Given the description of an element on the screen output the (x, y) to click on. 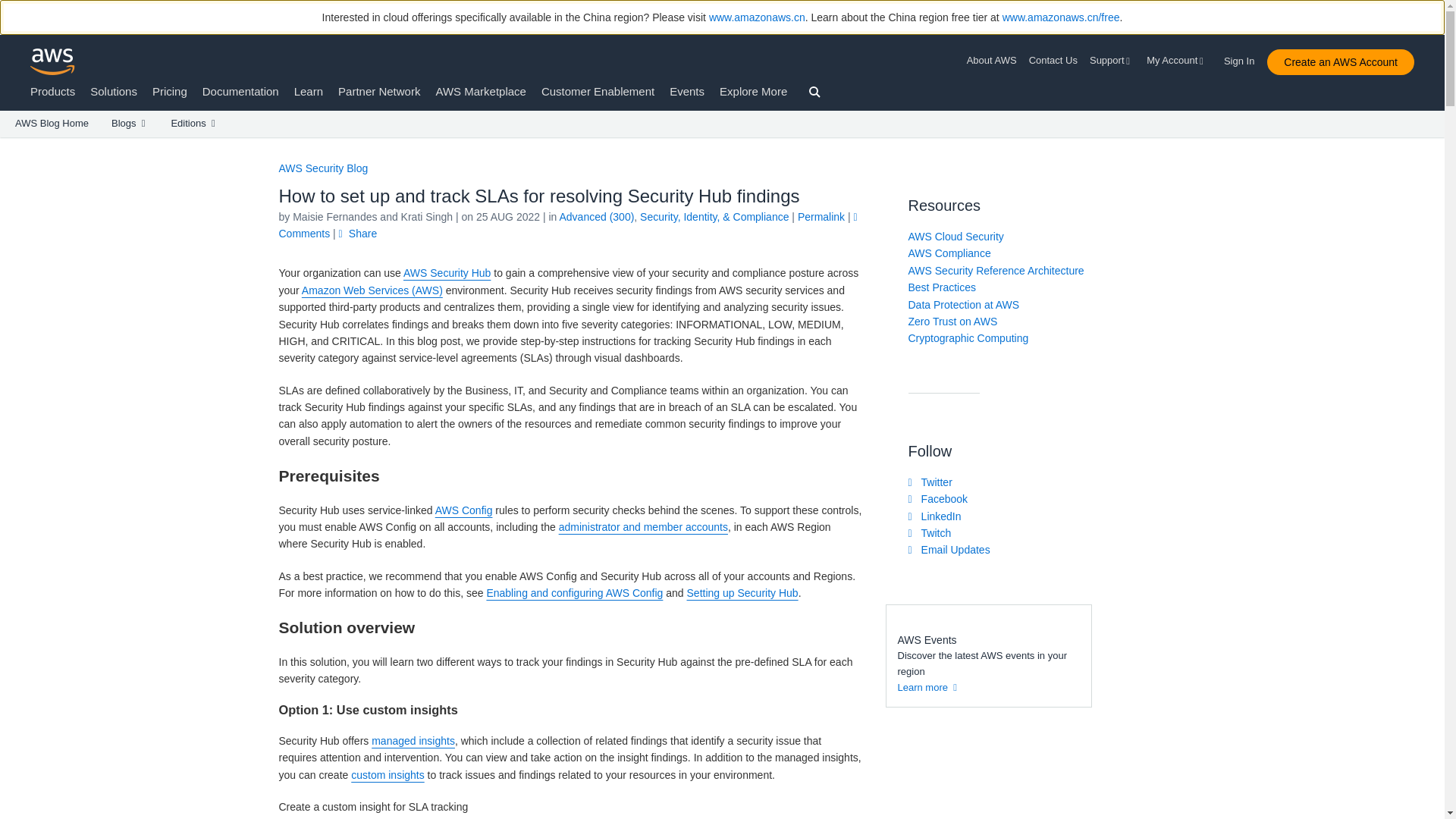
Support  (1111, 60)
AWS Marketplace (480, 91)
Contact Us (1053, 60)
Create an AWS Account (1339, 62)
Explore More (753, 91)
Products (52, 91)
My Account  (1177, 60)
Documentation (240, 91)
Click here to return to Amazon Web Services homepage (52, 61)
Pricing (169, 91)
